Given the description of an element on the screen output the (x, y) to click on. 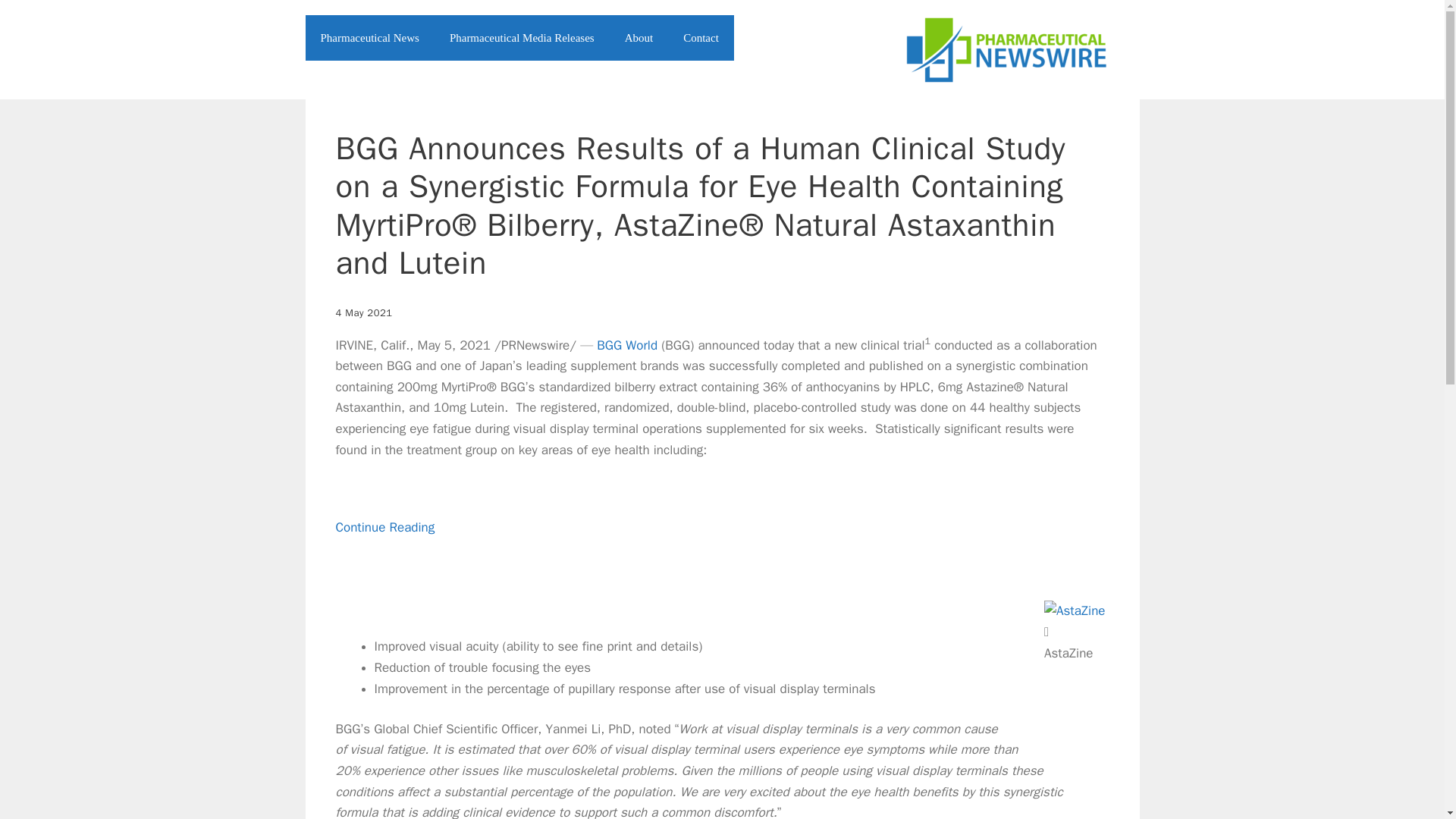
Pharmaceutical Media Releases (521, 37)
Contact (700, 37)
Continue Reading (383, 548)
BGG World (627, 344)
Pharmaceutical News (368, 37)
Continue Reading (383, 548)
AstaZine (1074, 610)
About (639, 37)
